Given the description of an element on the screen output the (x, y) to click on. 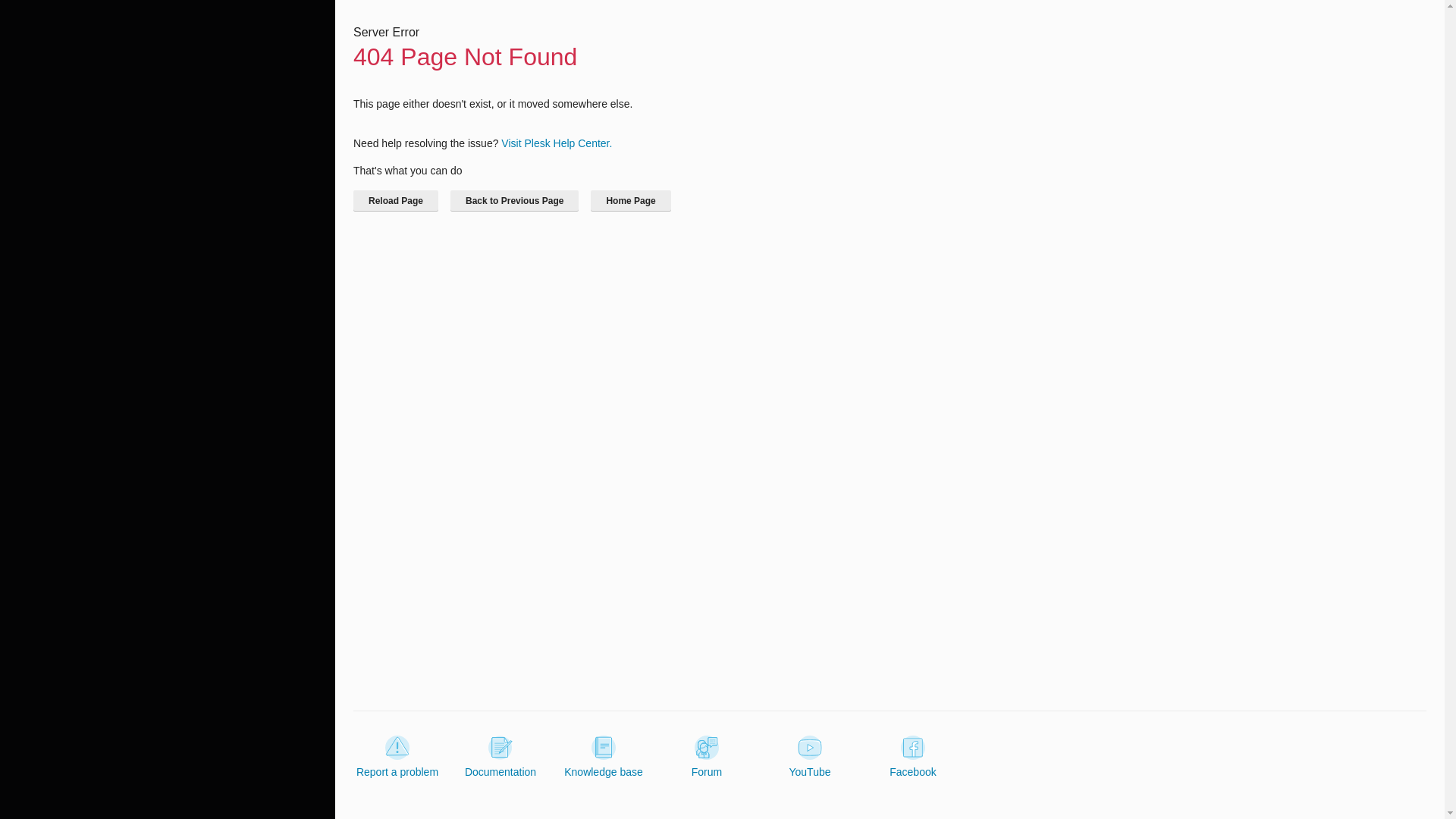
Back to Previous Page (513, 200)
Visit Plesk Help Center. (555, 143)
Home Page (630, 200)
YouTube (809, 757)
Knowledge base (603, 757)
Forum (706, 757)
Reload Page (395, 200)
Documentation (500, 757)
Report a problem (397, 757)
Facebook (912, 757)
